Given the description of an element on the screen output the (x, y) to click on. 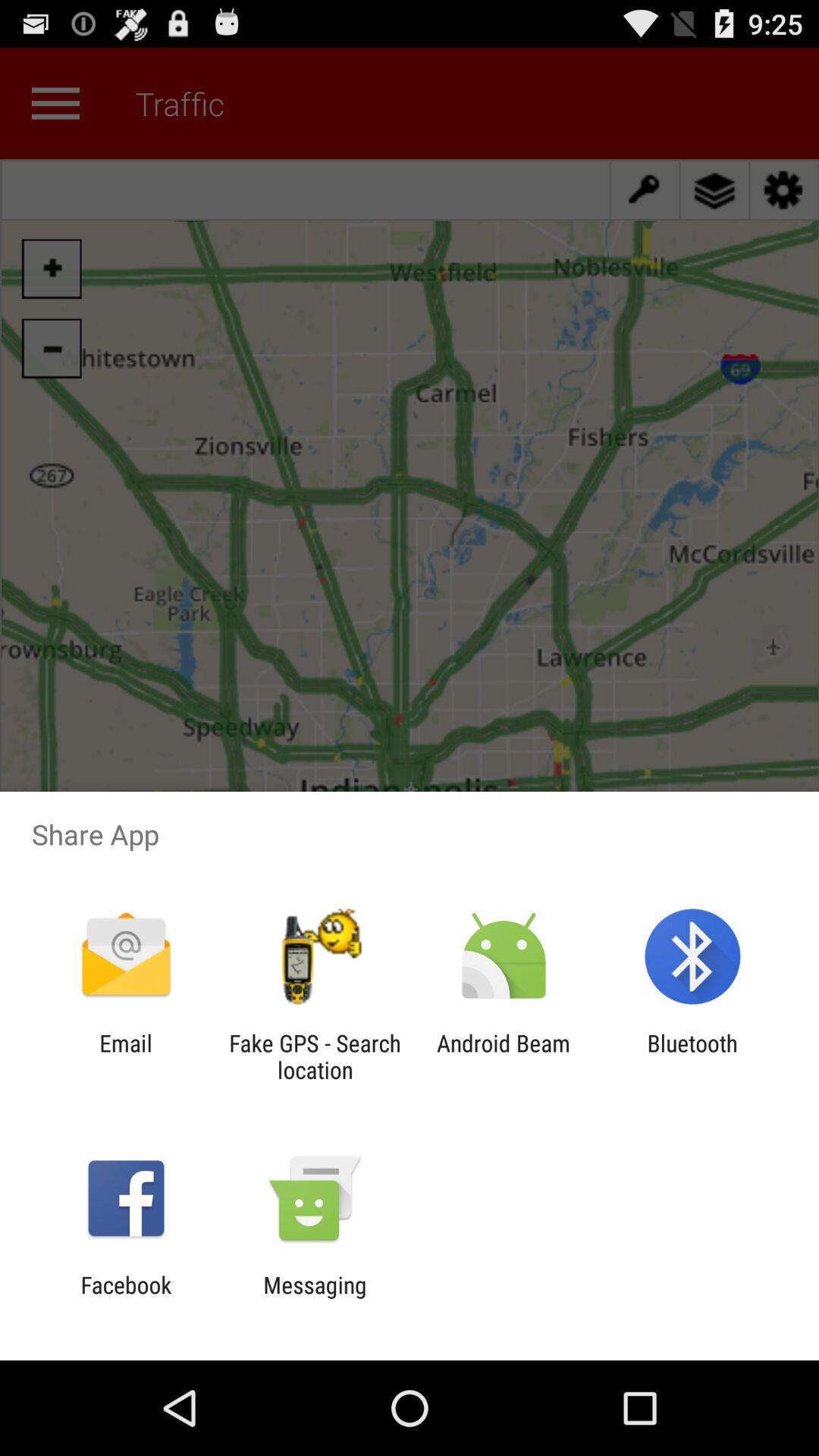
open icon next to android beam icon (314, 1056)
